Given the description of an element on the screen output the (x, y) to click on. 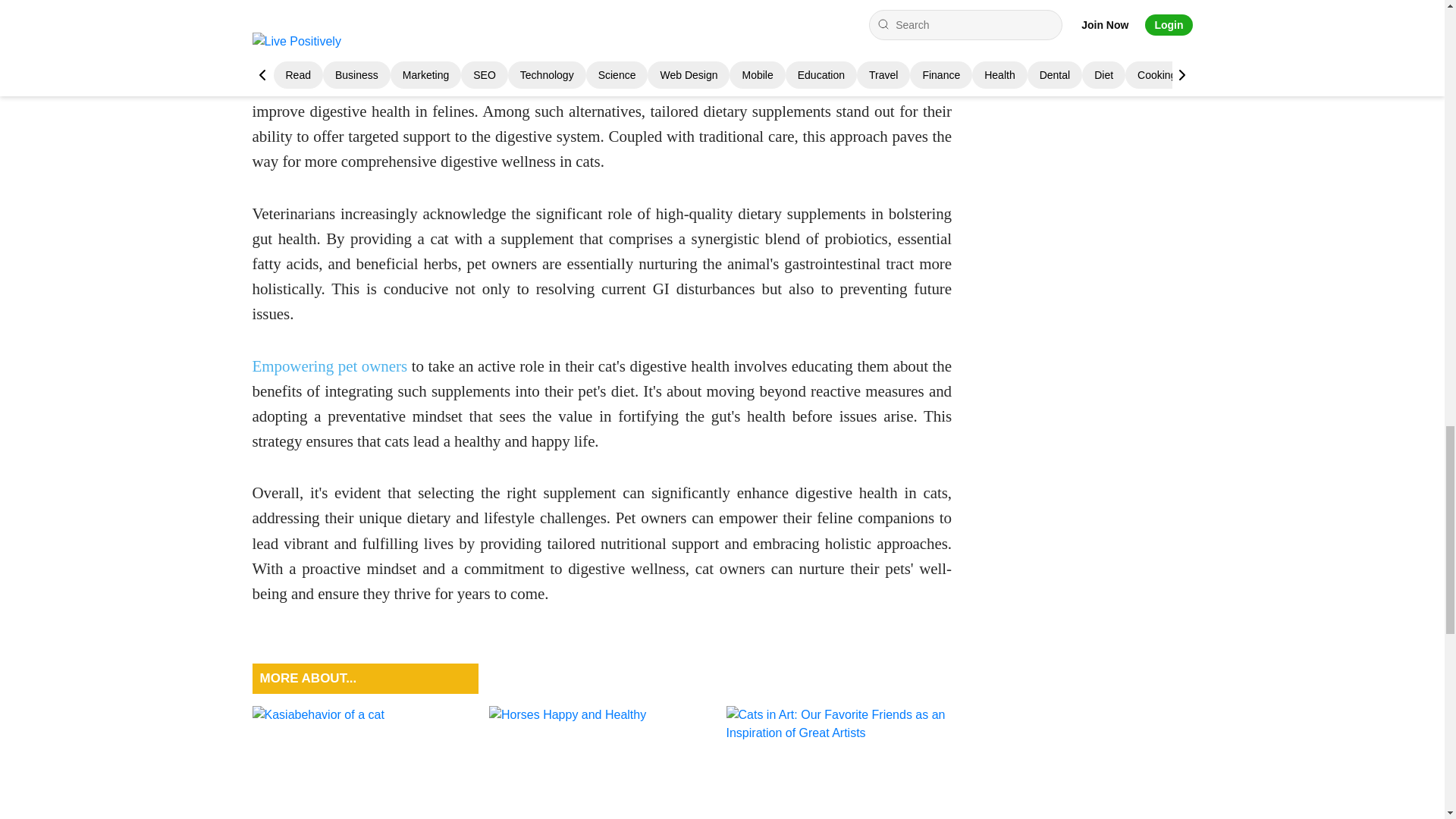
Kasiabehavior of a cat (364, 762)
Horses Happy and Healthy (601, 762)
